Given the description of an element on the screen output the (x, y) to click on. 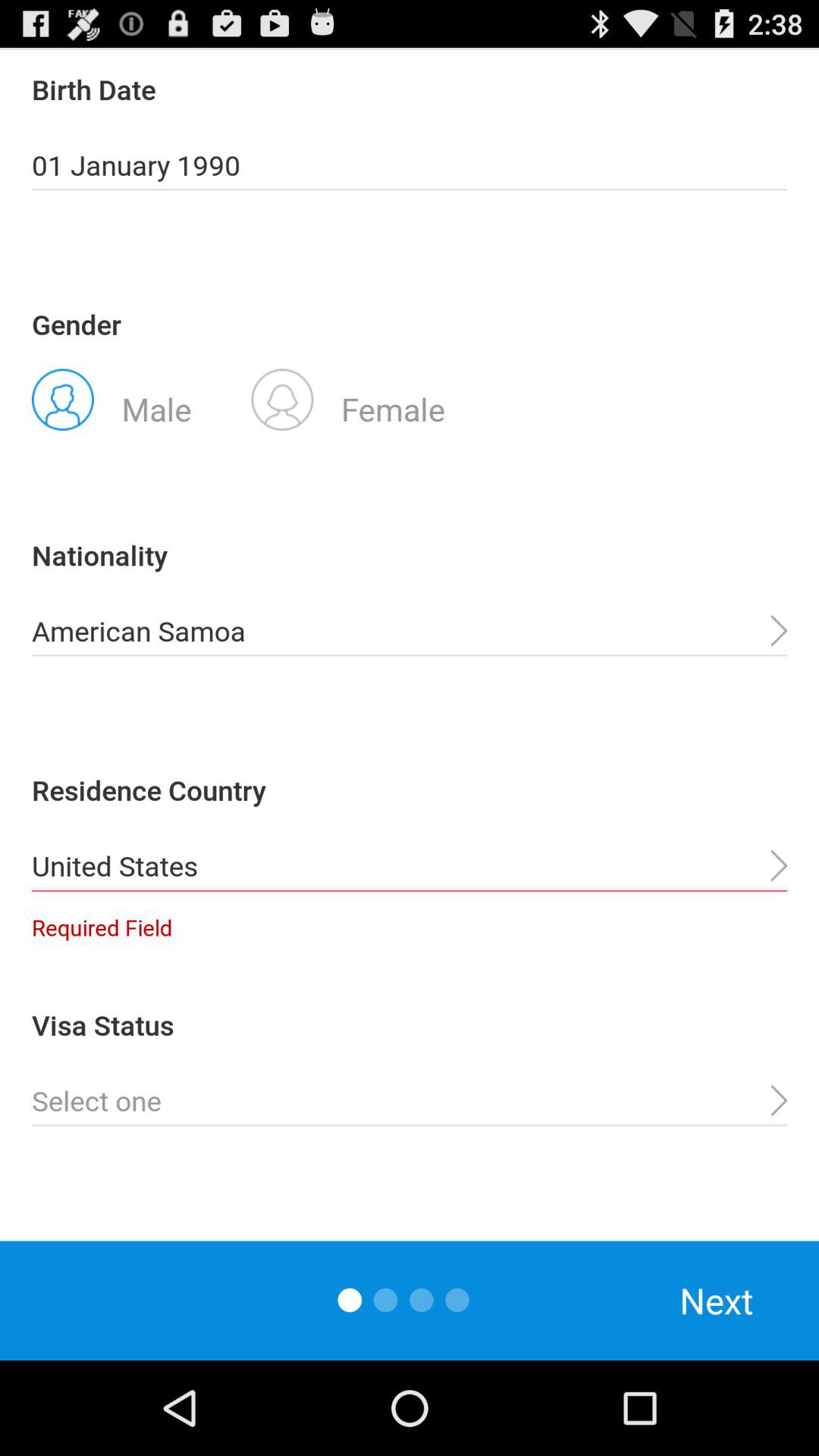
select status (409, 1101)
